Given the description of an element on the screen output the (x, y) to click on. 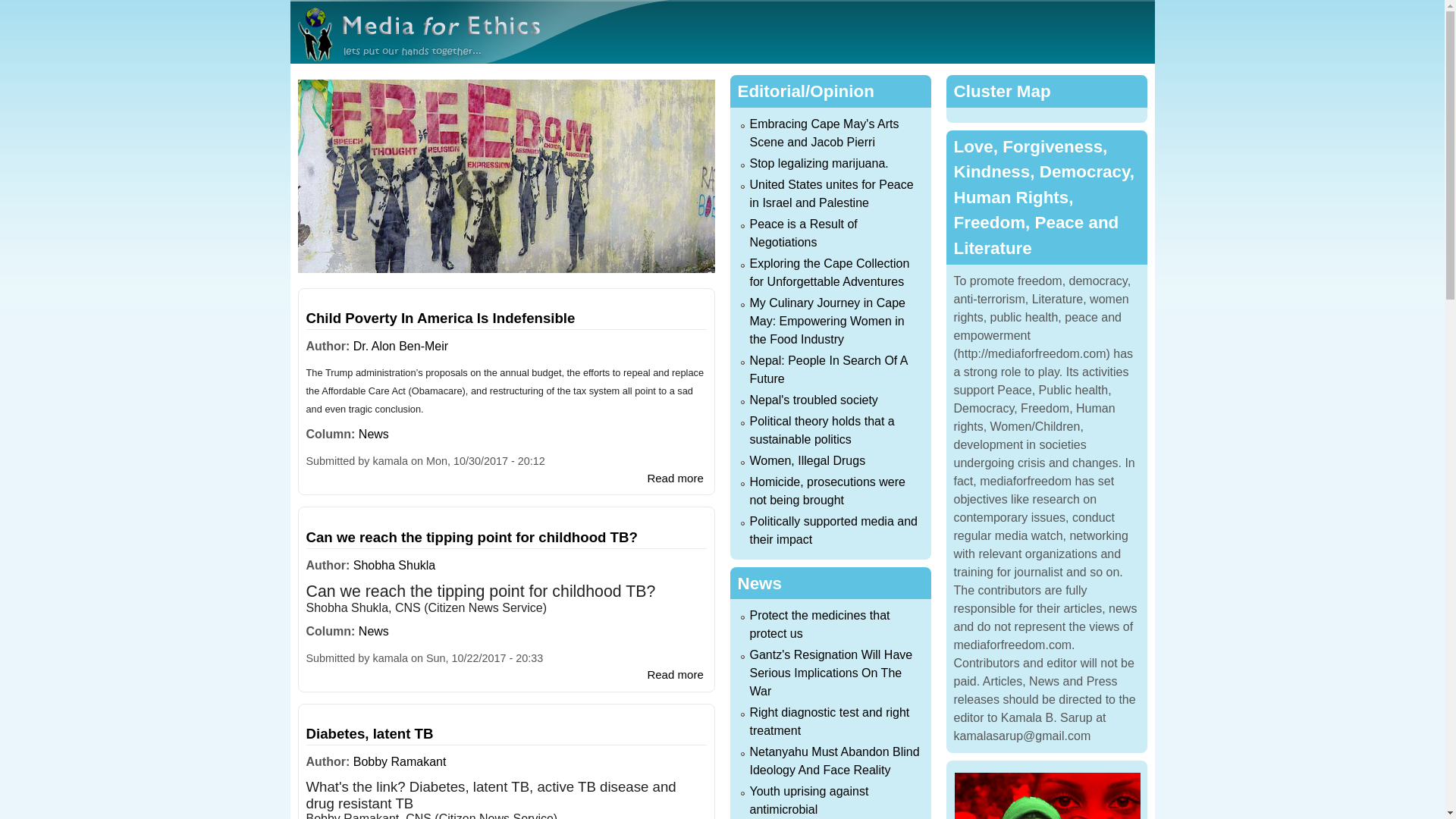
Dr. Alon Ben-Meir (400, 345)
News (373, 631)
Child Poverty In America Is Indefensible (440, 317)
Diabetes, latent TB (674, 477)
Child Poverty In America Is Indefensible (369, 733)
Can we reach the tipping point for childhood TB? (674, 477)
Bobby Ramakant (471, 537)
Shobha Shukla (399, 761)
